Given the description of an element on the screen output the (x, y) to click on. 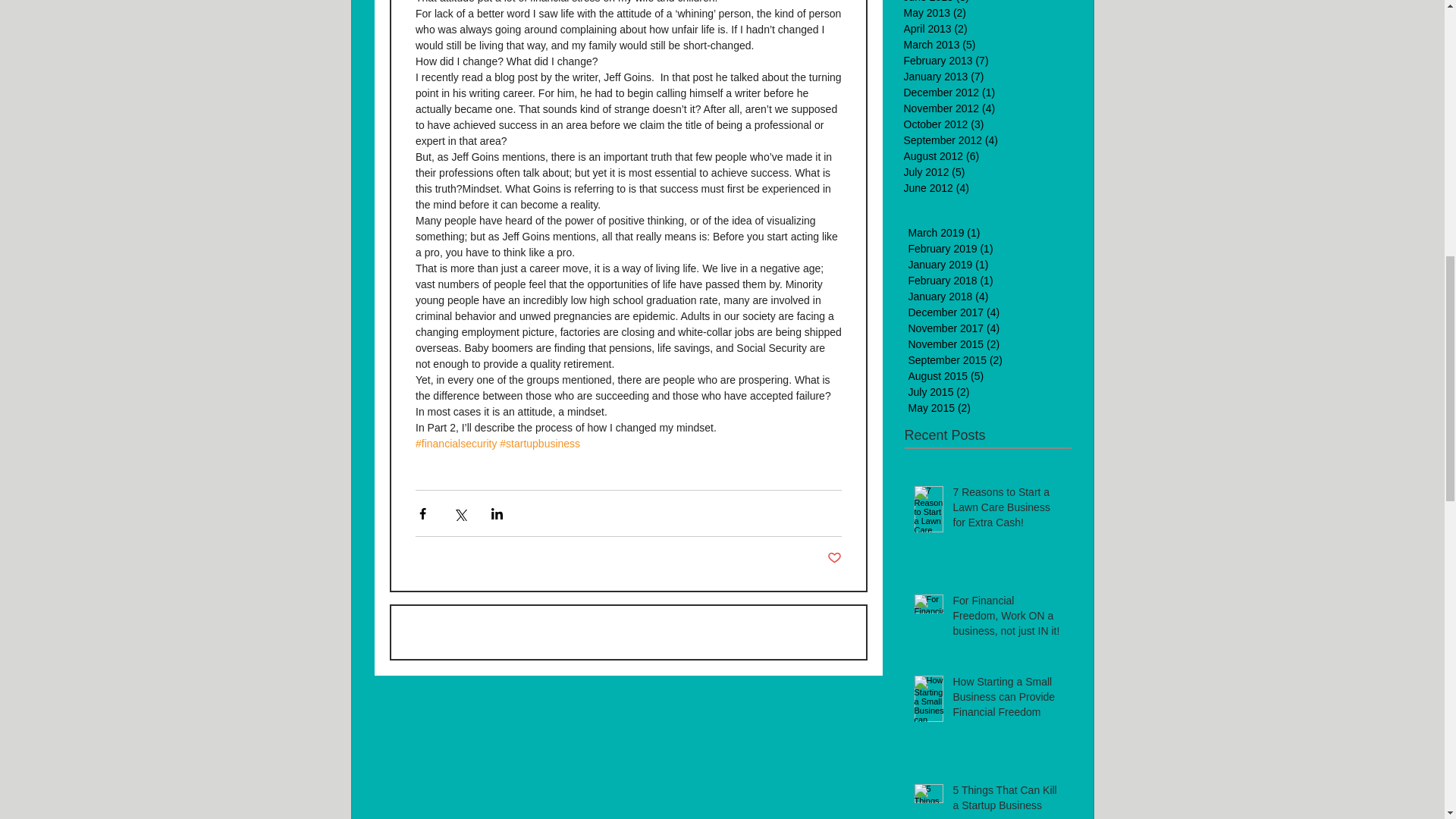
Post not marked as liked (834, 558)
